Given the description of an element on the screen output the (x, y) to click on. 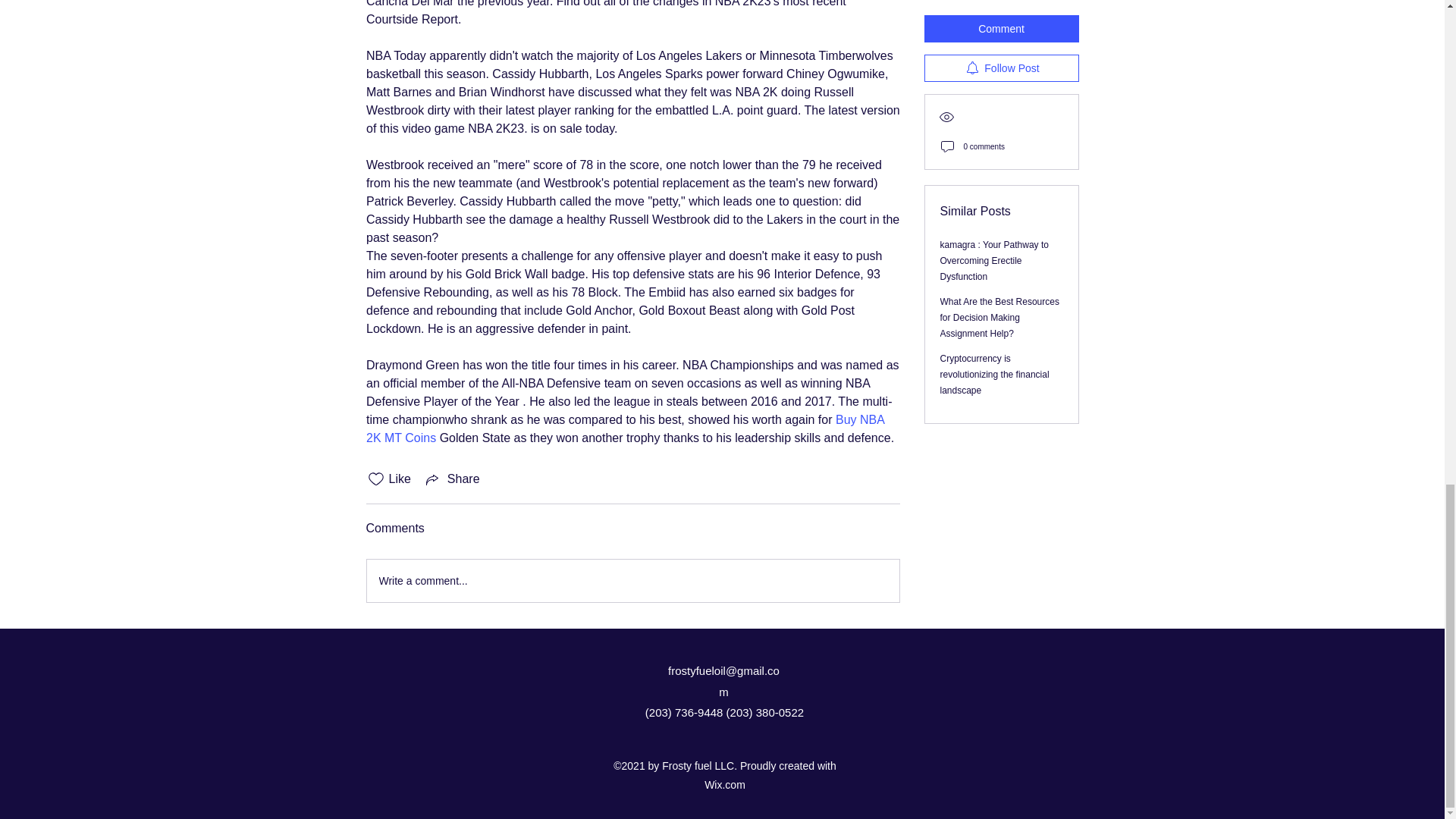
Buy NBA 2K MT Coins (625, 428)
Share (451, 479)
Write a comment... (632, 580)
Cryptocurrency is revolutionizing the financial landscape (994, 19)
